Given the description of an element on the screen output the (x, y) to click on. 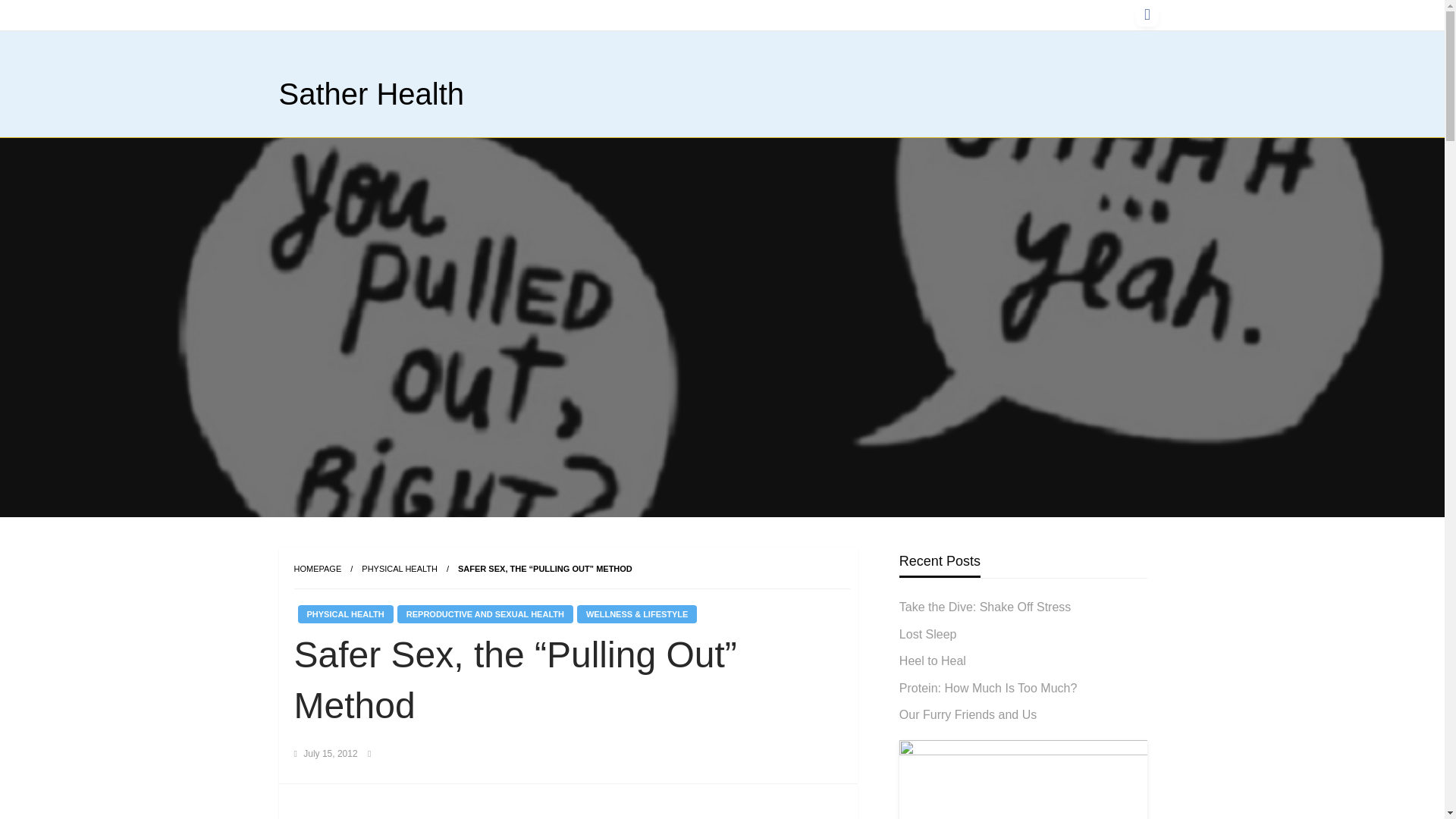
Sather Health (371, 93)
Physical Health (399, 568)
Homepage (318, 568)
